Given the description of an element on the screen output the (x, y) to click on. 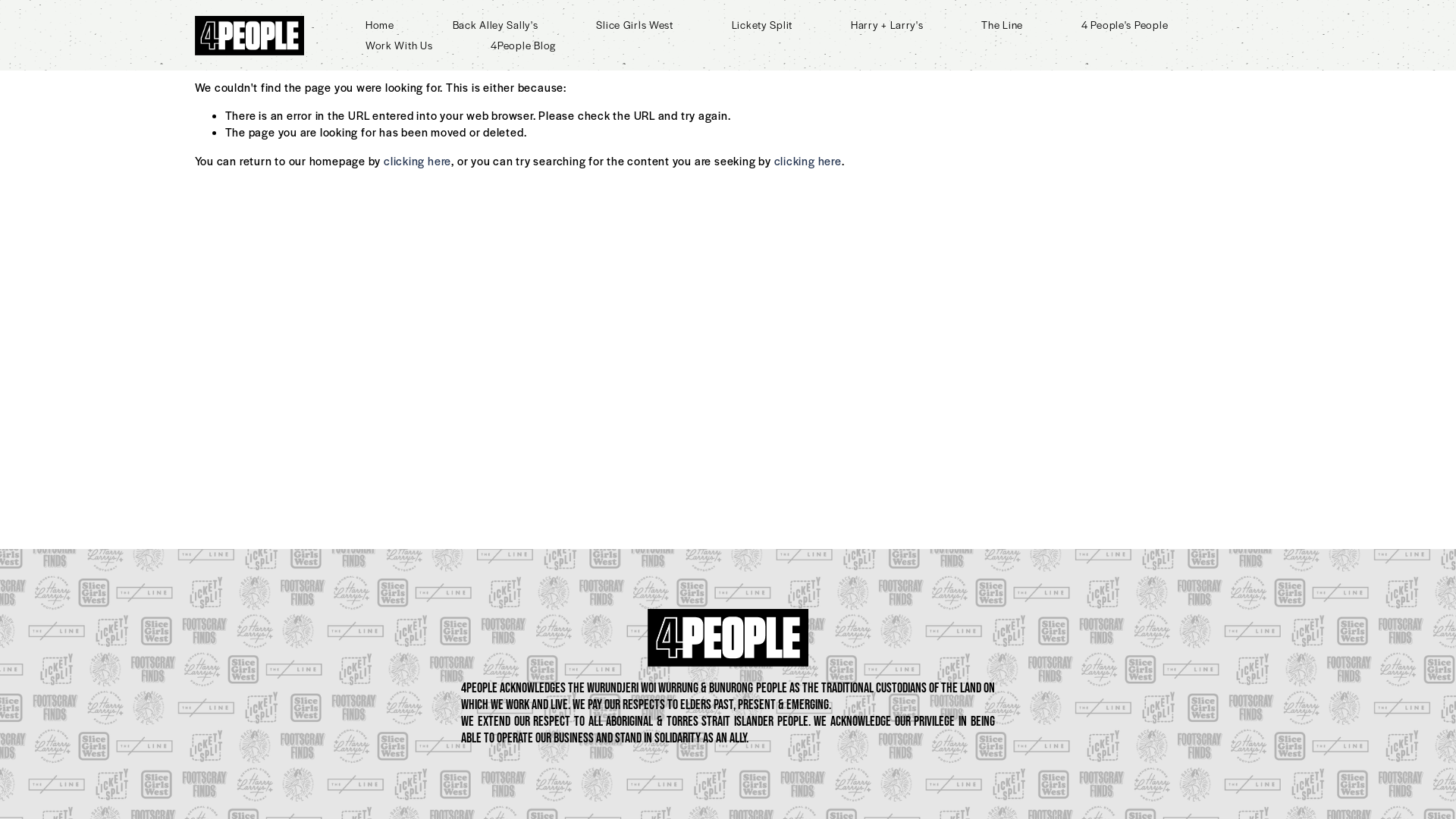
4People Blog Element type: text (522, 45)
clicking here Element type: text (807, 160)
clicking here Element type: text (417, 160)
The Line Element type: text (1001, 24)
Back Alley Sally's Element type: text (495, 24)
4 People's People Element type: text (1124, 24)
Harry + Larry's Element type: text (886, 24)
Slice Girls West Element type: text (634, 24)
Home Element type: text (379, 24)
Lickety Split Element type: text (761, 24)
Work With Us Element type: text (399, 45)
